Given the description of an element on the screen output the (x, y) to click on. 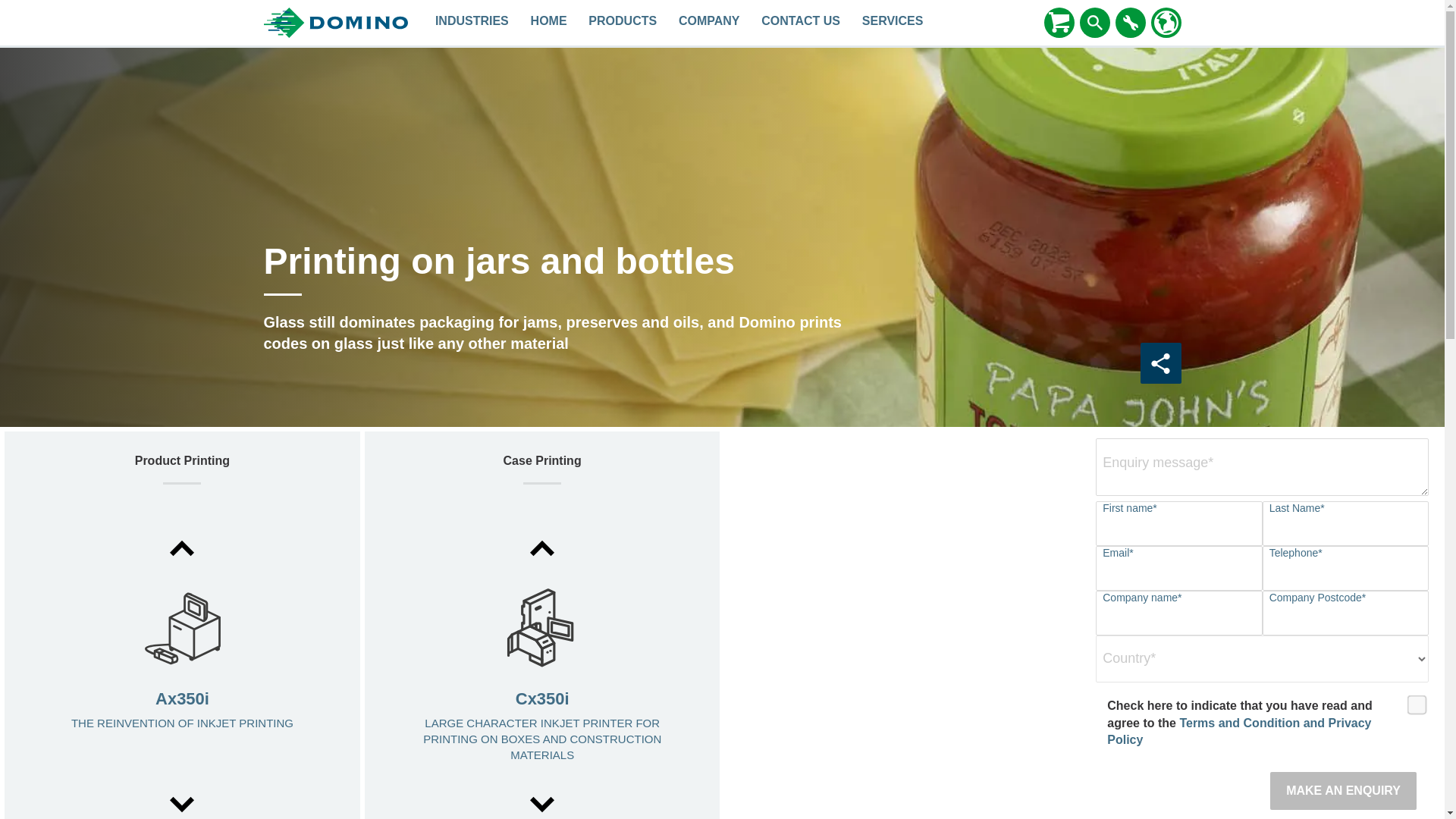
Search (1094, 22)
Company (709, 22)
Services (891, 22)
on (1411, 700)
Change Region (1165, 22)
industries (472, 22)
BuyDomino (1058, 22)
MyDomino Portals (1129, 22)
Change Region (1165, 22)
BuyDomino (1058, 22)
